Given the description of an element on the screen output the (x, y) to click on. 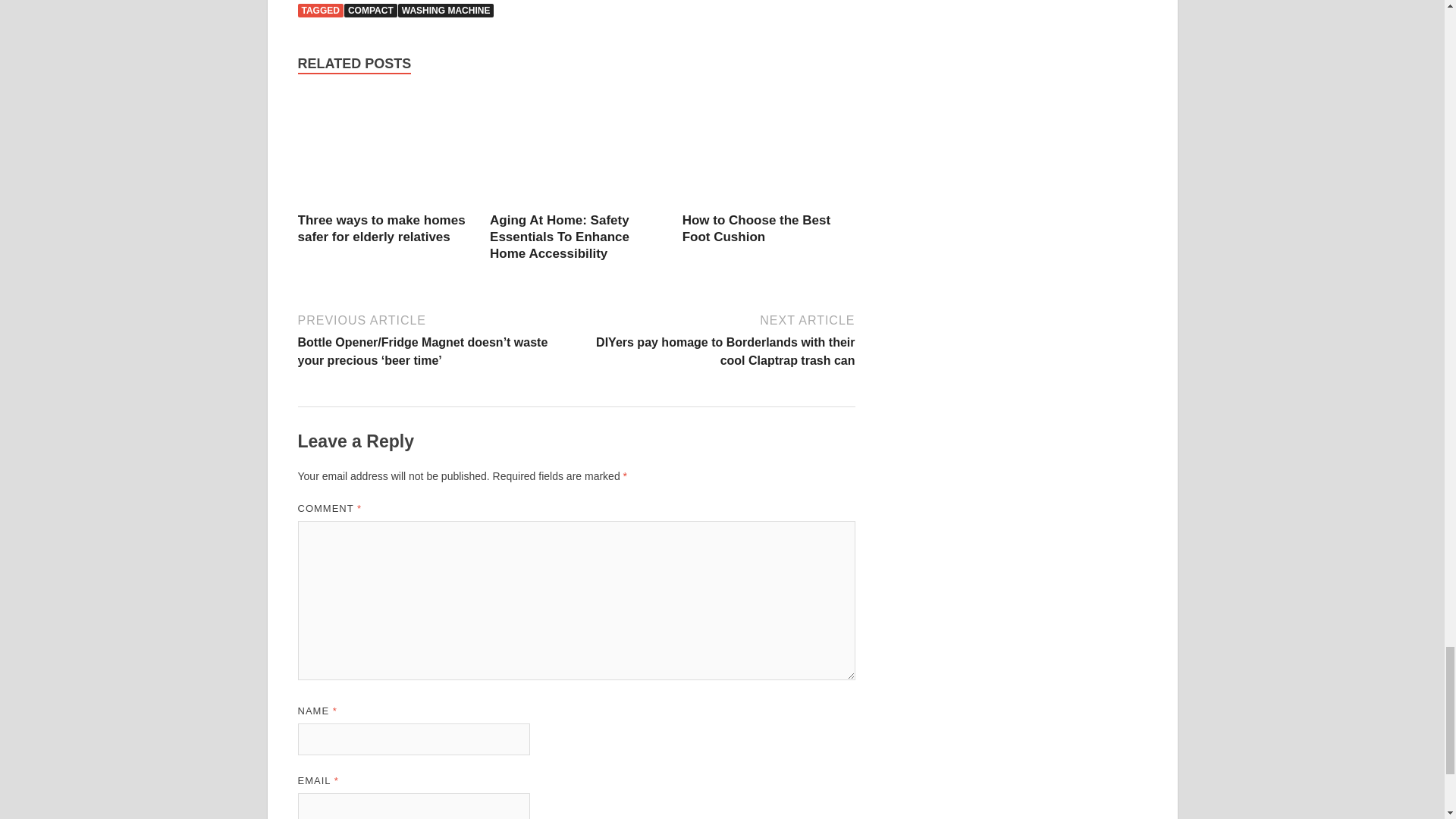
Three ways to make homes safer for elderly relatives (380, 228)
COMPACT (370, 10)
How to Choose the Best Foot Cushion (756, 228)
WASHING MACHINE (446, 10)
How to Choose the Best Foot Cushion (769, 151)
Three ways to make homes safer for elderly relatives (383, 151)
